Given the description of an element on the screen output the (x, y) to click on. 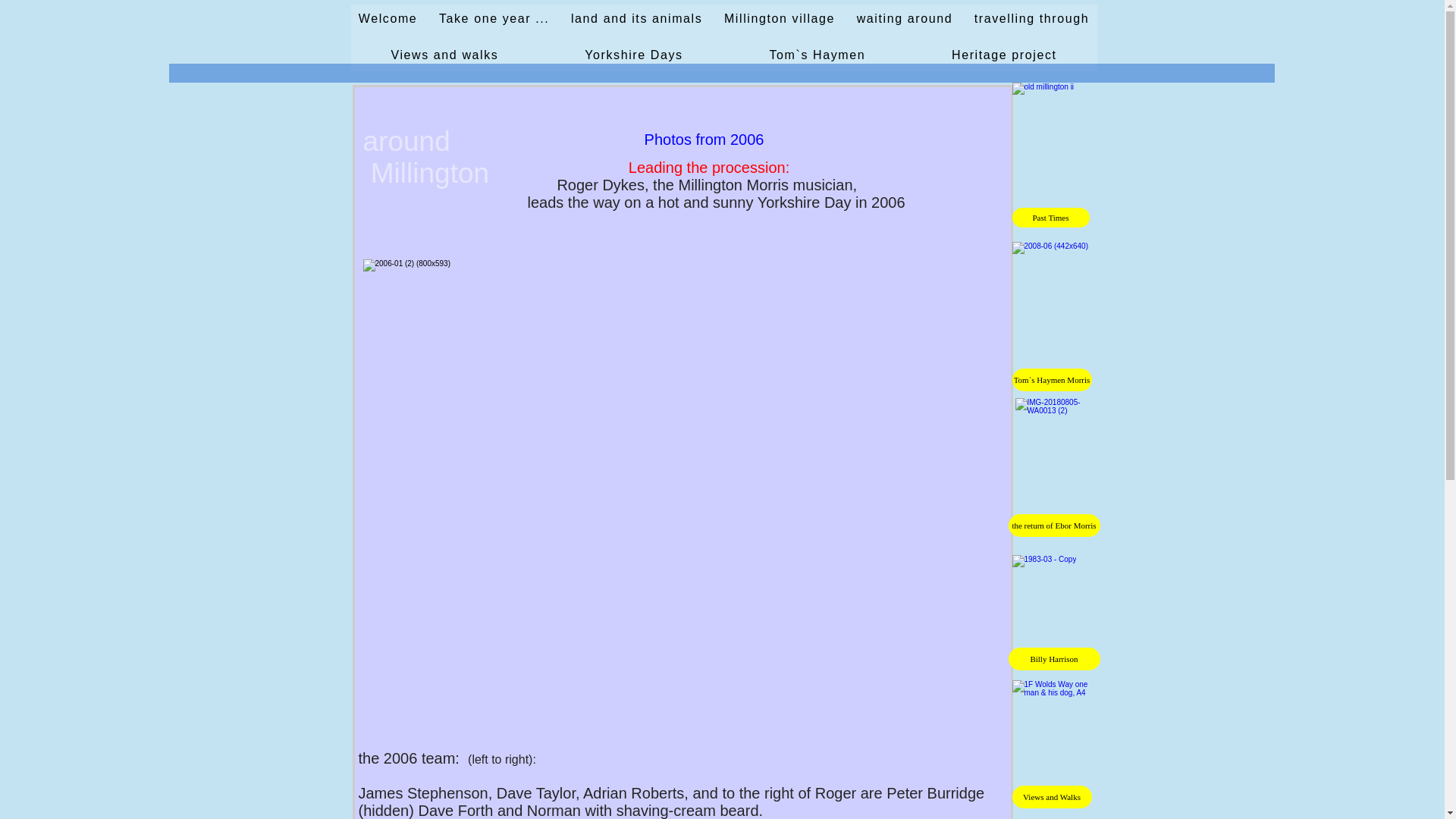
Views and Walks (1050, 796)
Welcome (387, 19)
Past Times (1050, 217)
waiting around (903, 19)
Take one year ... (493, 19)
Yorkshire Days (633, 55)
the return of Ebor Morris (1054, 525)
land and its animals (636, 19)
Millington village (779, 19)
travelling through (1031, 19)
